Given the description of an element on the screen output the (x, y) to click on. 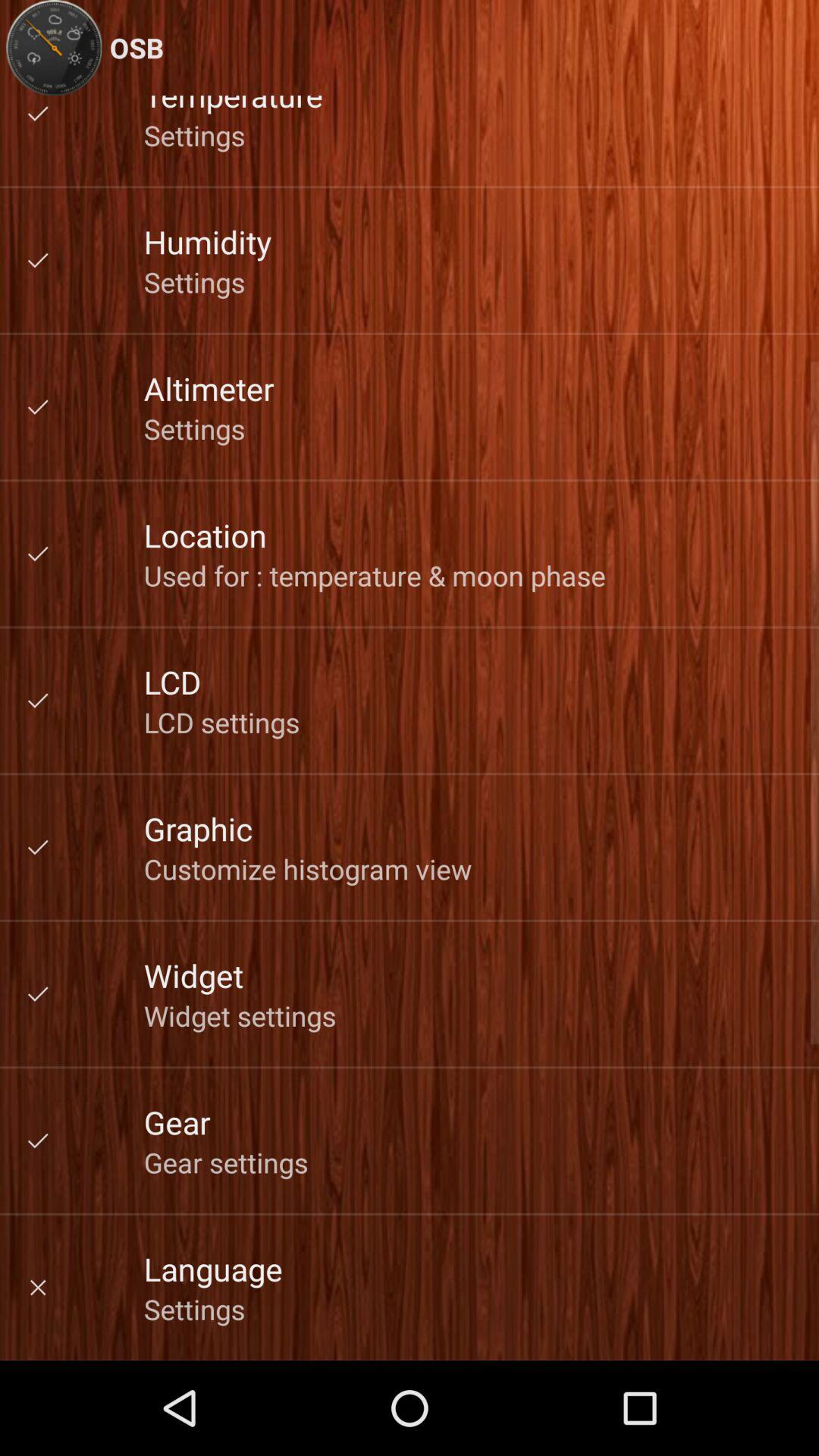
press the icon below the settings icon (207, 241)
